Given the description of an element on the screen output the (x, y) to click on. 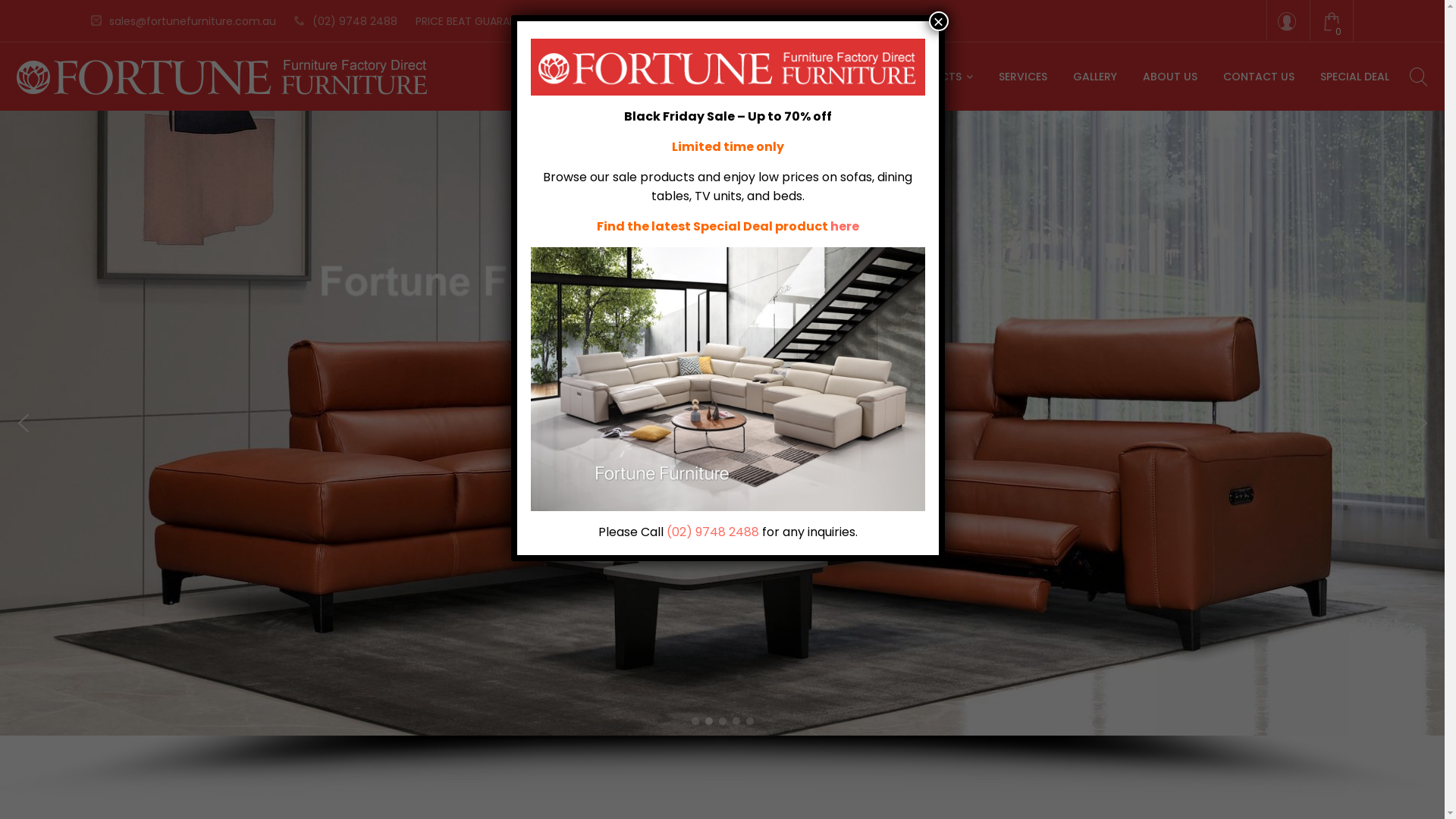
sales@fortunefurniture.com.au Element type: text (183, 20)
0 Element type: text (1331, 25)
(02) 9748 2488 Element type: text (345, 20)
SERVICES Element type: text (1022, 76)
ABOUT US Element type: text (1169, 76)
SPECIAL DEAL Element type: text (1354, 76)
CONTACT US Element type: text (1258, 76)
HOME Element type: text (861, 76)
(02) 9748 2488 Element type: text (712, 531)
GALLERY Element type: text (1095, 76)
here Element type: text (844, 226)
PRODUCTS Element type: text (937, 76)
